Given the description of an element on the screen output the (x, y) to click on. 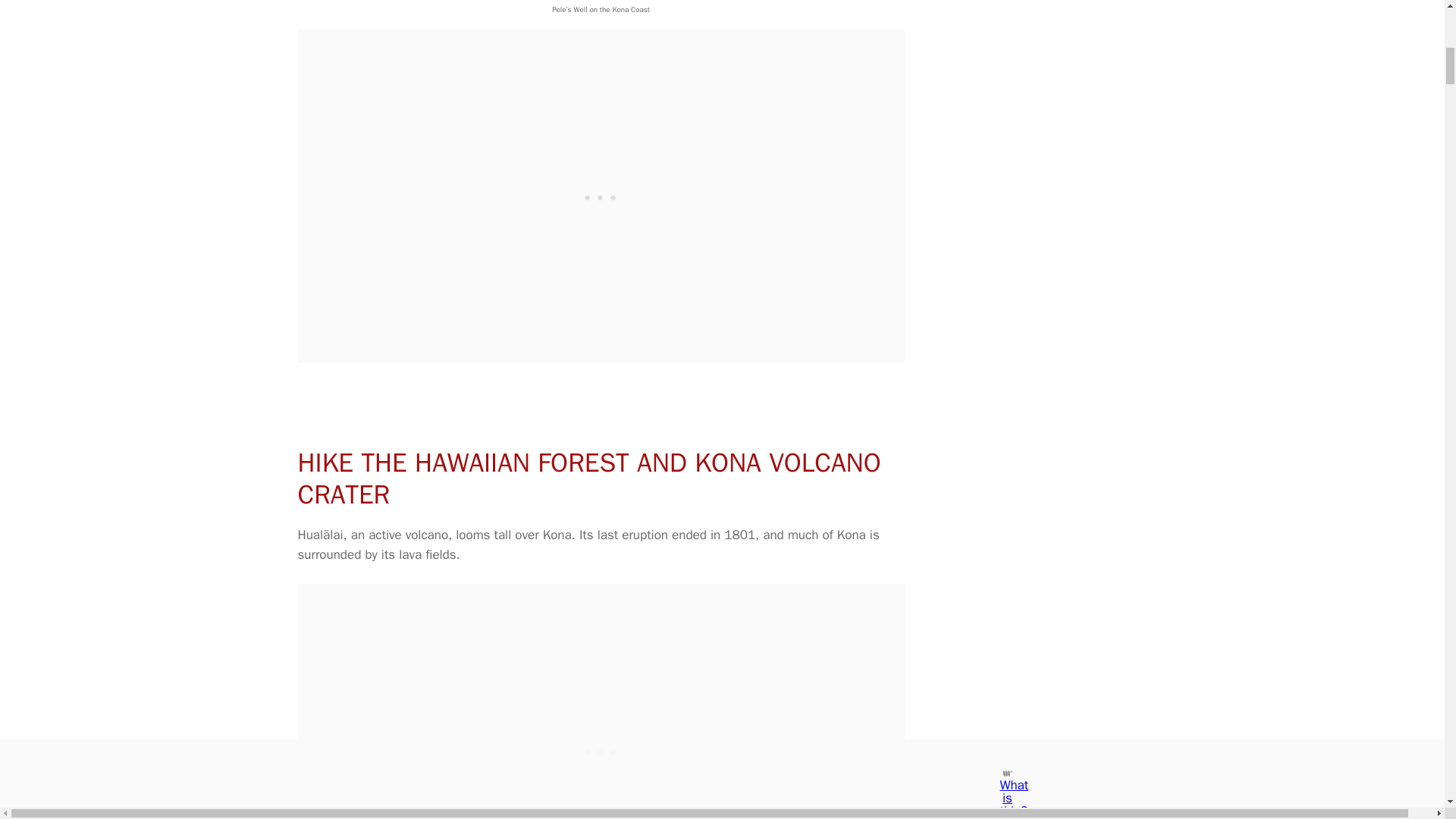
Scroll back to top (1406, 640)
